Given the description of an element on the screen output the (x, y) to click on. 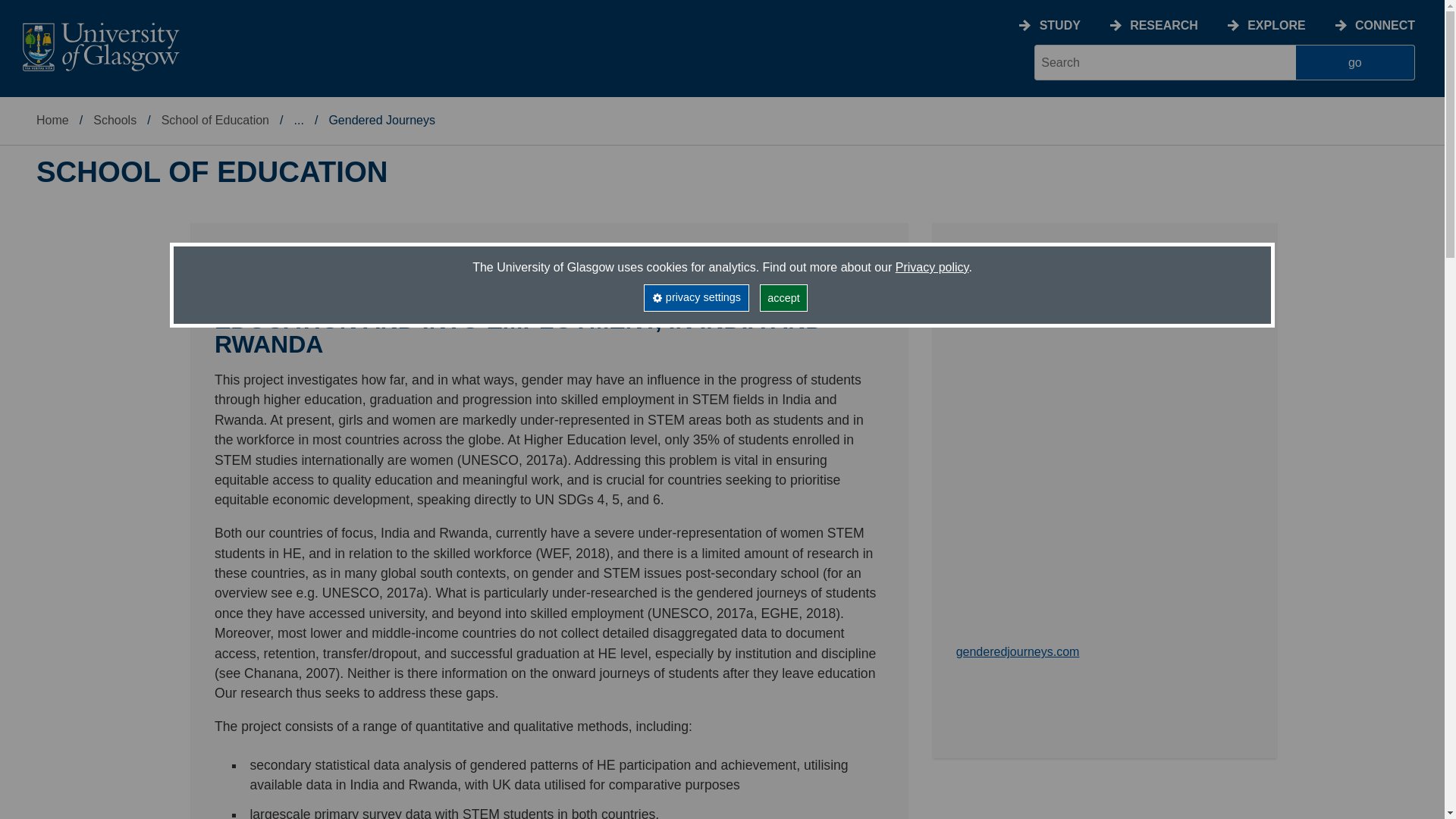
submit (1355, 62)
Privacy policy (932, 267)
privacy settings (695, 298)
STUDY (1059, 24)
go (1355, 62)
RESEARCH (1163, 24)
go (1355, 62)
search (1164, 62)
CONNECT (1385, 24)
EXPLORE (1275, 24)
accept (784, 298)
